Given the description of an element on the screen output the (x, y) to click on. 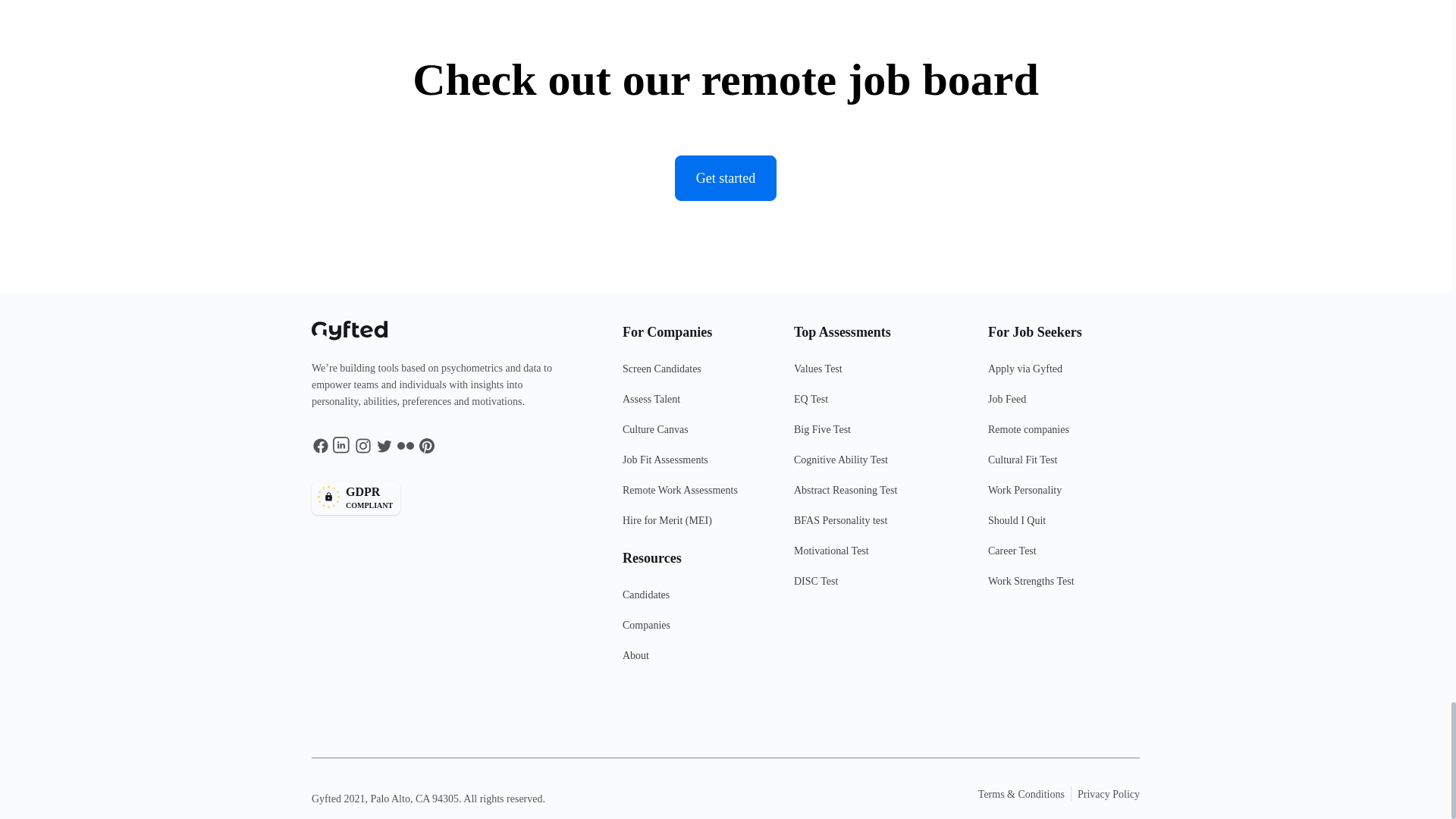
Job Fit Assessments (698, 466)
Culture Canvas (698, 435)
Screen Candidates (442, 498)
Assess Talent (698, 375)
Get started (698, 405)
